Given the description of an element on the screen output the (x, y) to click on. 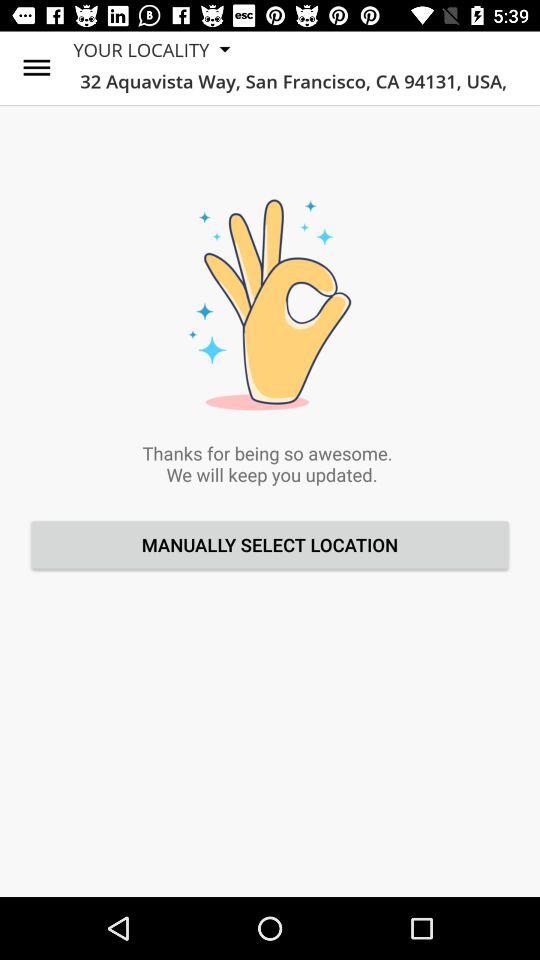
turn off item below the thanks for being icon (269, 544)
